Given the description of an element on the screen output the (x, y) to click on. 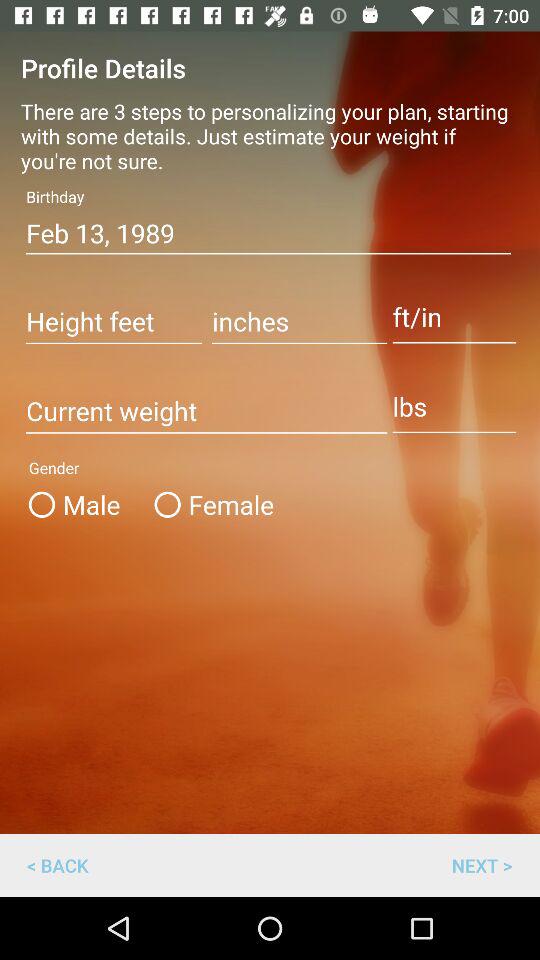
select the icon next to the < back icon (482, 864)
